Given the description of an element on the screen output the (x, y) to click on. 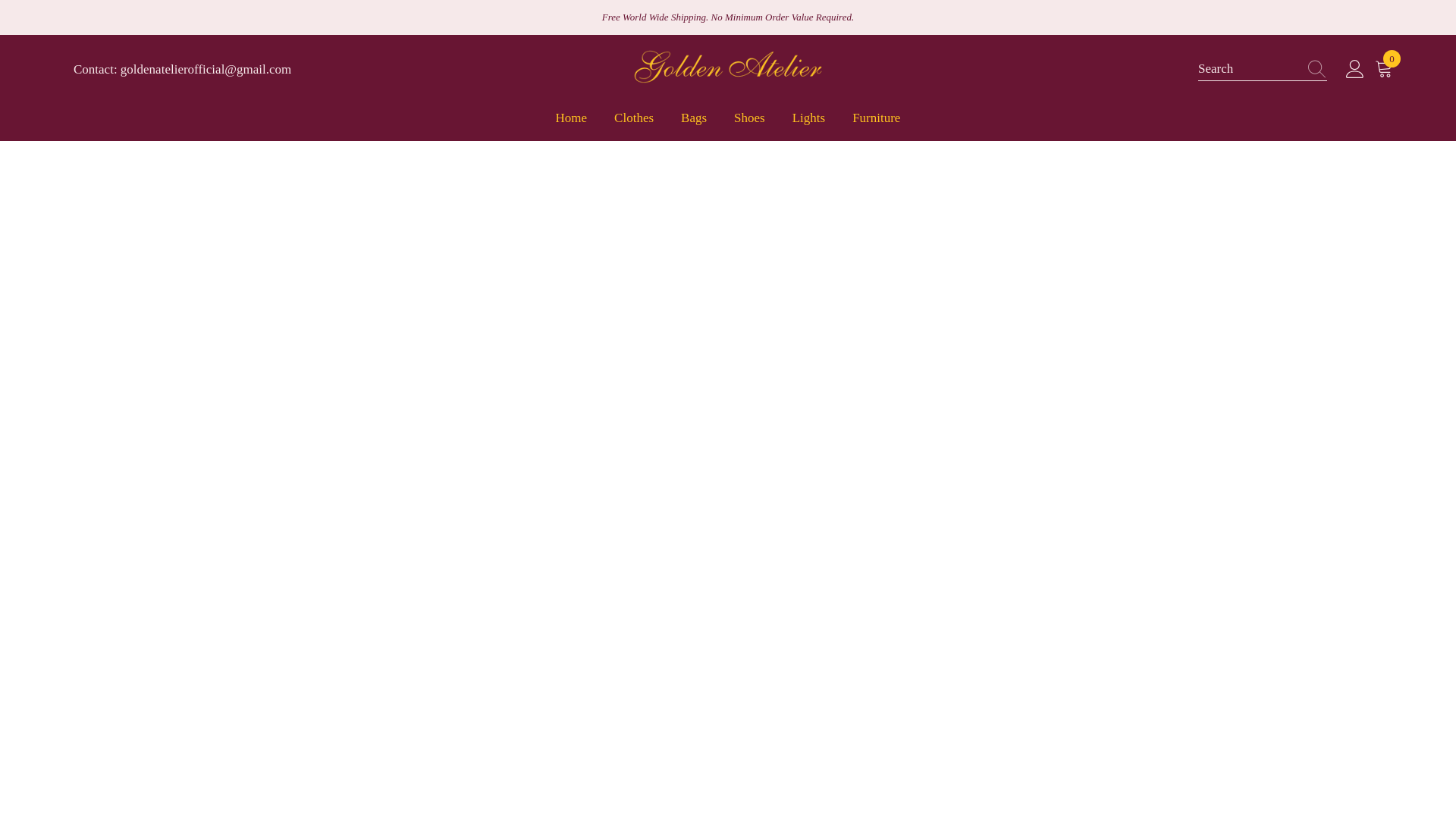
Bags (693, 124)
Home (1386, 69)
Shoes (571, 124)
Lights (749, 124)
Clothes (808, 124)
Log in (632, 124)
